Given the description of an element on the screen output the (x, y) to click on. 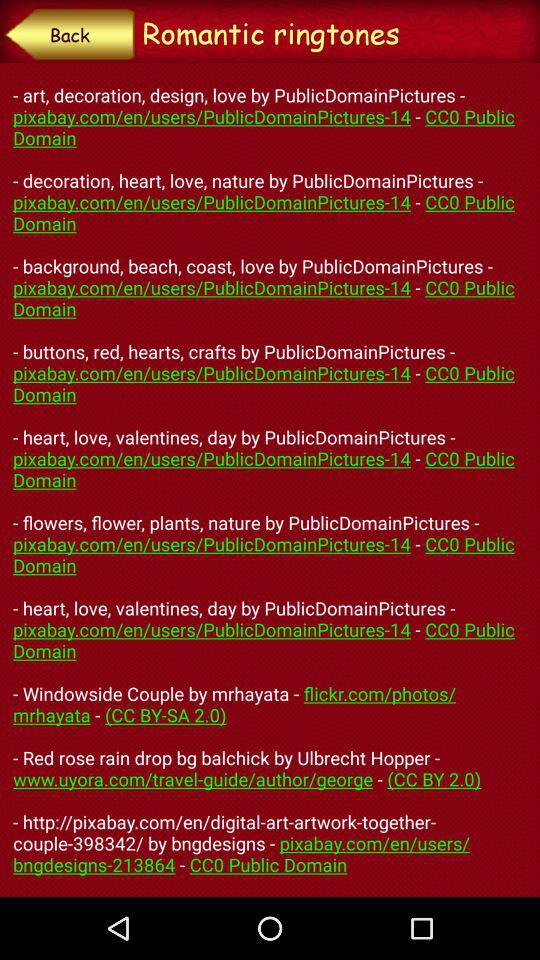
swipe to back item (69, 34)
